Given the description of an element on the screen output the (x, y) to click on. 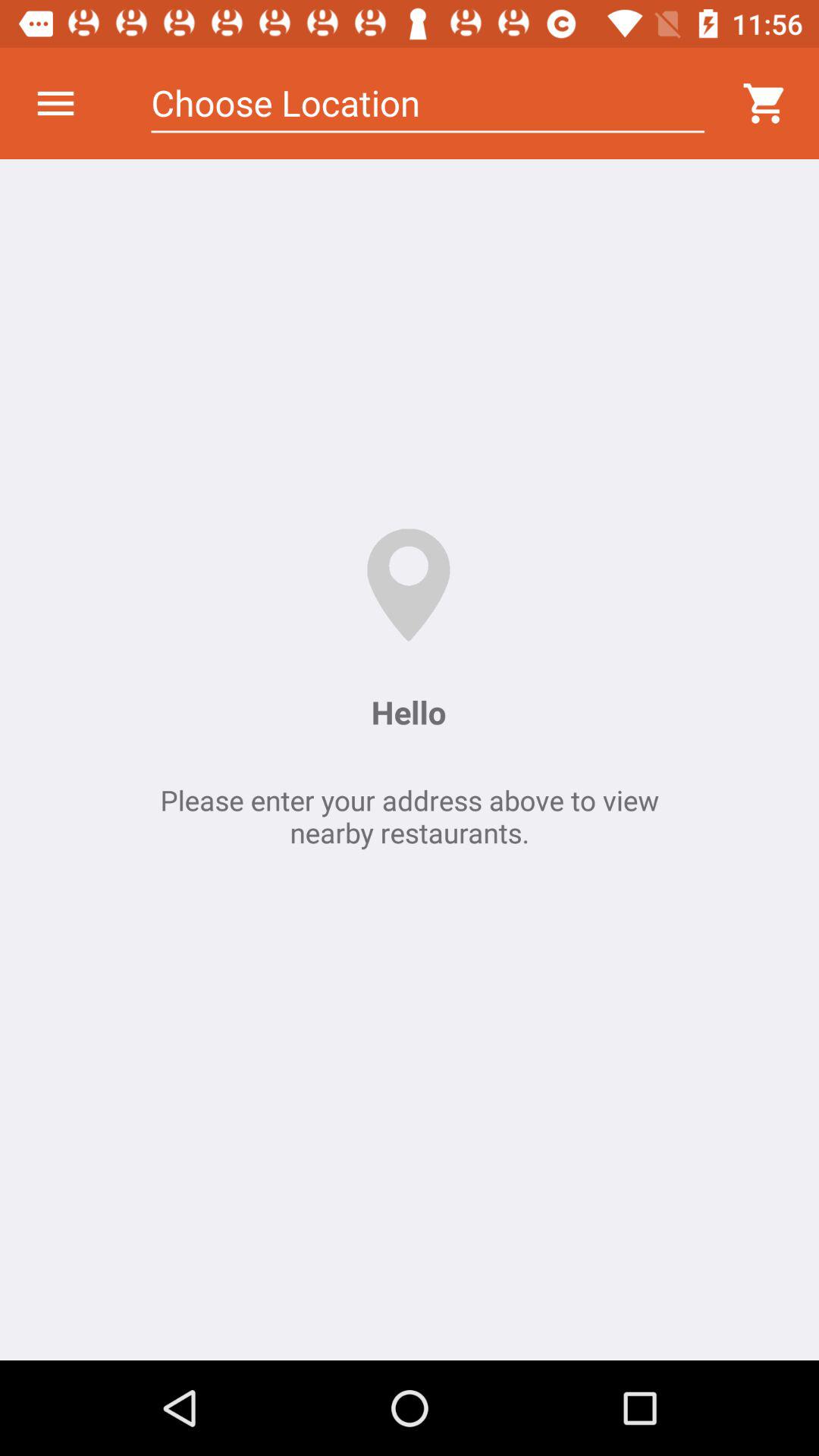
open icon next to choose location icon (55, 103)
